Given the description of an element on the screen output the (x, y) to click on. 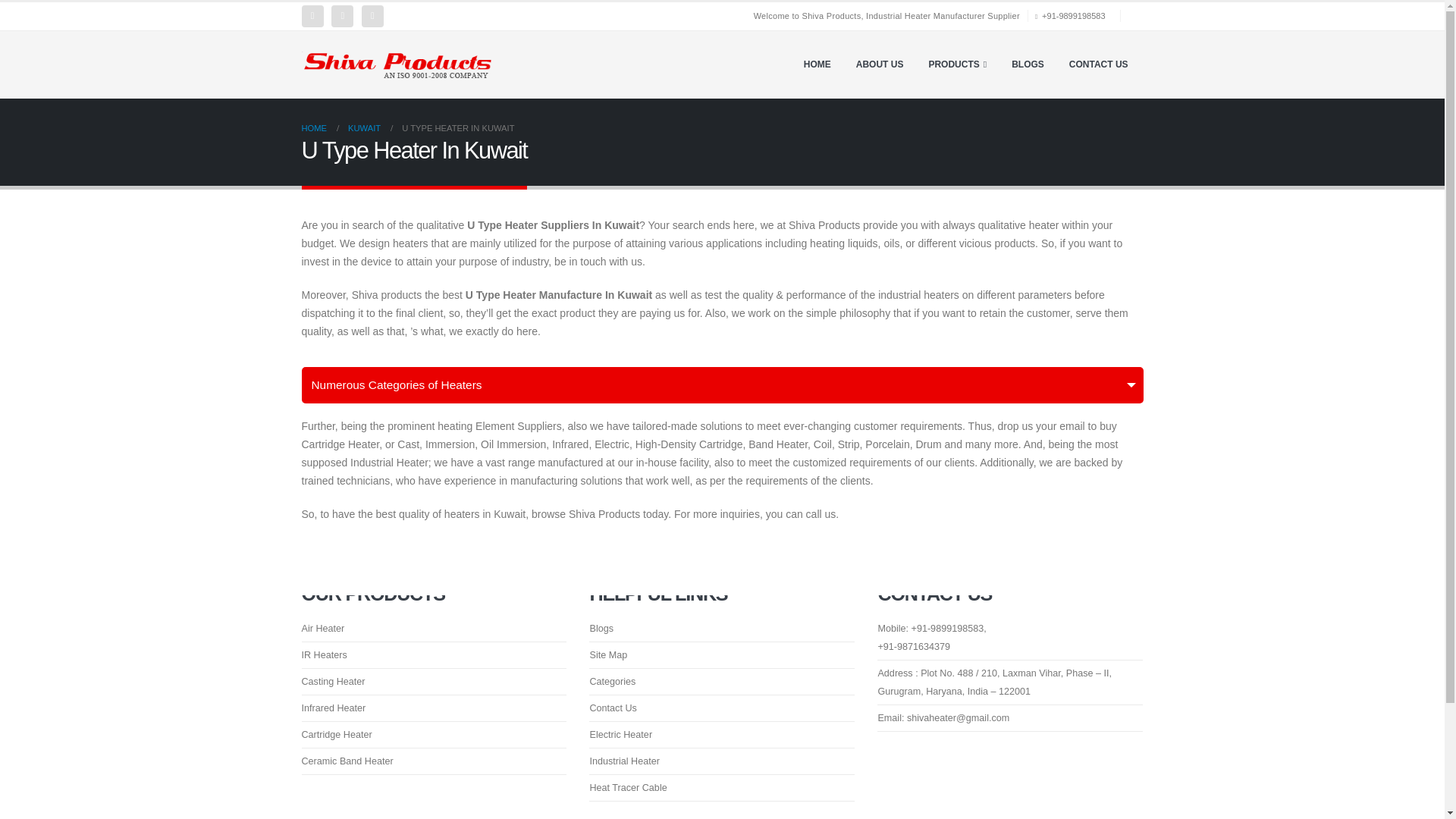
Team (931, 628)
Facebook (312, 15)
Team (913, 646)
HOME (817, 64)
Team (994, 682)
Twitter (342, 15)
ABOUT US (879, 64)
Go to Home Page (314, 127)
Team (943, 717)
Pinterest (372, 15)
PRODUCTS (956, 64)
